Given the description of an element on the screen output the (x, y) to click on. 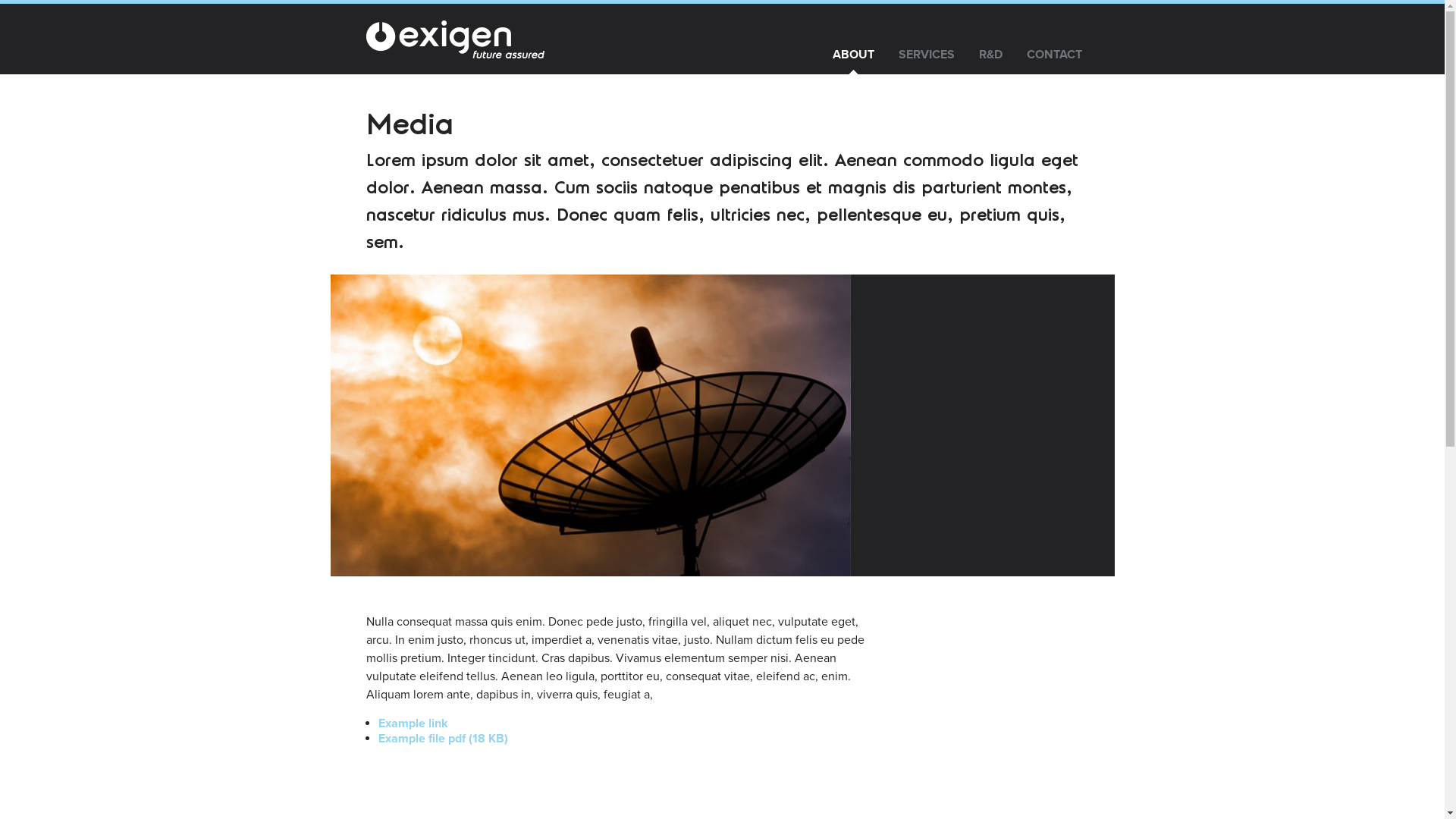
ABOUT Element type: text (853, 54)
R&D Element type: text (989, 54)
Example link Element type: text (412, 723)
CONTACT Element type: text (1054, 54)
Example file pdf (18 KB) Element type: text (442, 738)
SERVICES Element type: text (925, 54)
Exigen Element type: text (455, 39)
